Given the description of an element on the screen output the (x, y) to click on. 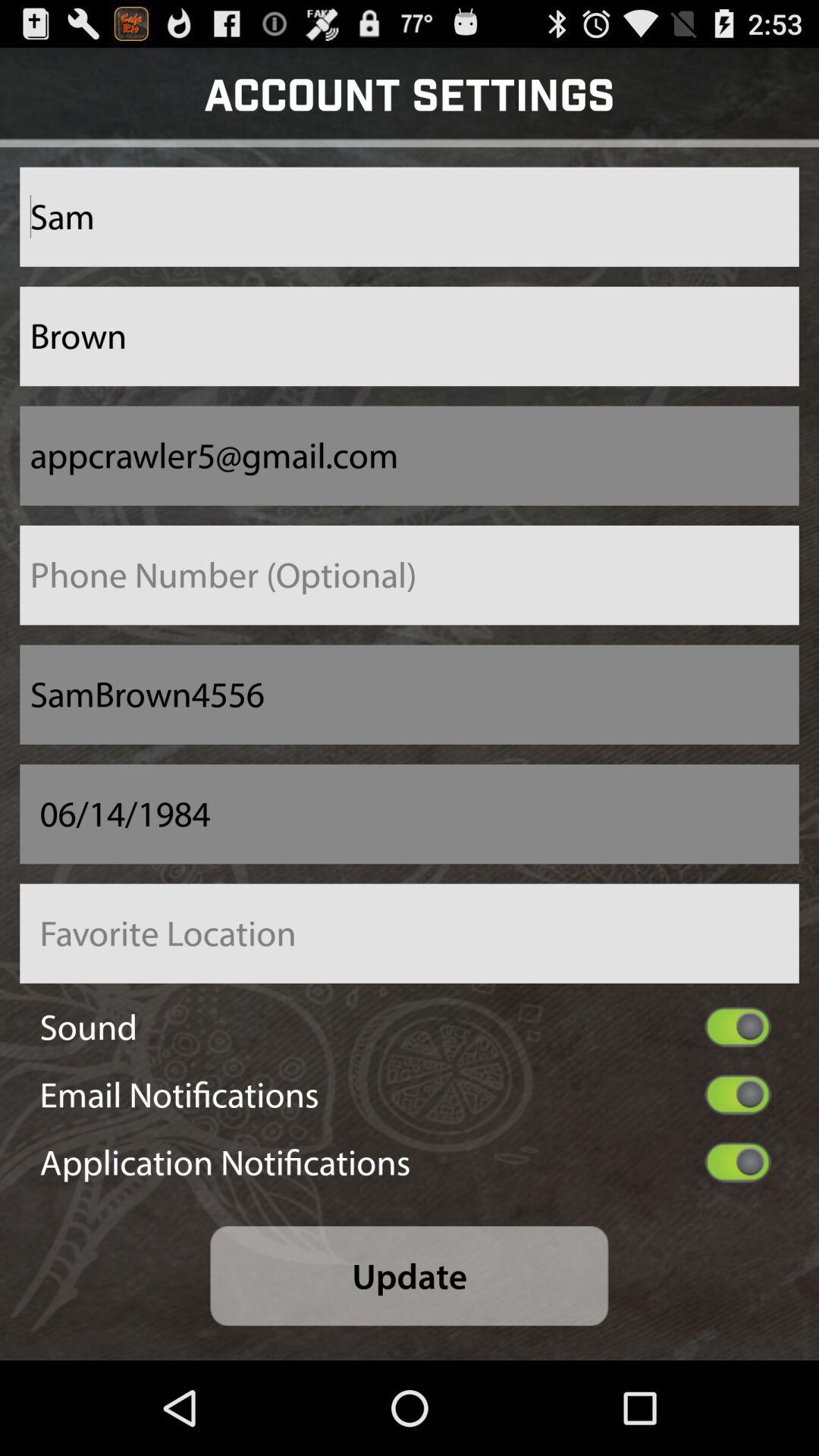
select phone number field (409, 575)
